Given the description of an element on the screen output the (x, y) to click on. 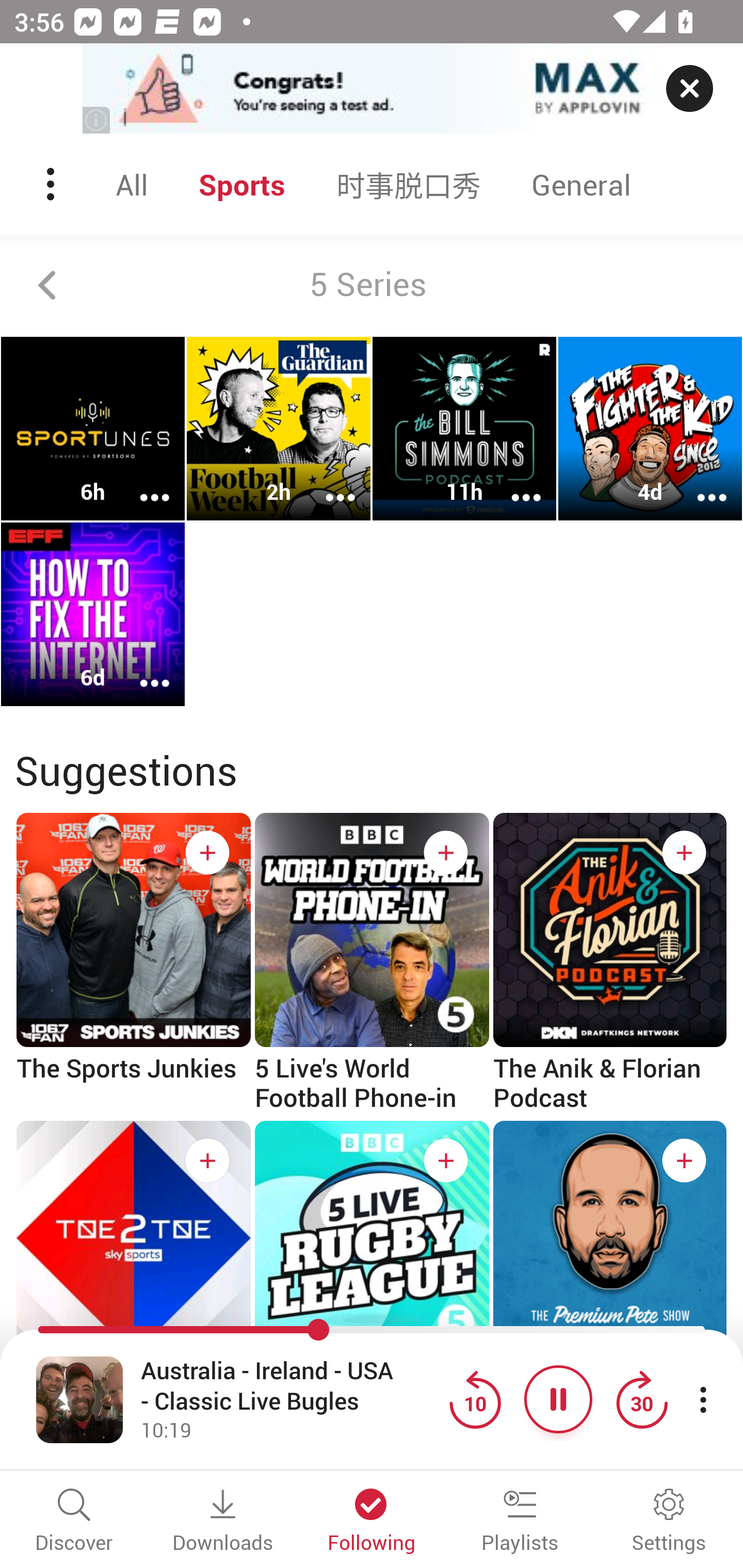
app-monetization (371, 88)
(i) (96, 119)
Menu (52, 184)
All (131, 184)
Sports (242, 184)
时事脱口秀 (408, 184)
General (580, 184)
5 Series (371, 285)
Sportunes HK 6h More options More options (92, 428)
Football Weekly 2h More options More options (278, 428)
The Fighter & The Kid 4d More options More options (650, 428)
More options (141, 484)
More options (326, 484)
More options (512, 484)
More options (698, 484)
More options (141, 669)
Subscribe button (207, 852)
Subscribe button (446, 852)
Subscribe button (684, 852)
Subscribe button (207, 1160)
Subscribe button (446, 1160)
Subscribe button (684, 1160)
Open fullscreen player (79, 1399)
More player controls (703, 1399)
Australia - Ireland - USA - Classic Live Bugles (290, 1385)
Pause button (558, 1398)
Jump back (475, 1399)
Jump forward (641, 1399)
Discover (74, 1521)
Downloads (222, 1521)
Following (371, 1521)
Playlists (519, 1521)
Settings (668, 1521)
